Given the description of an element on the screen output the (x, y) to click on. 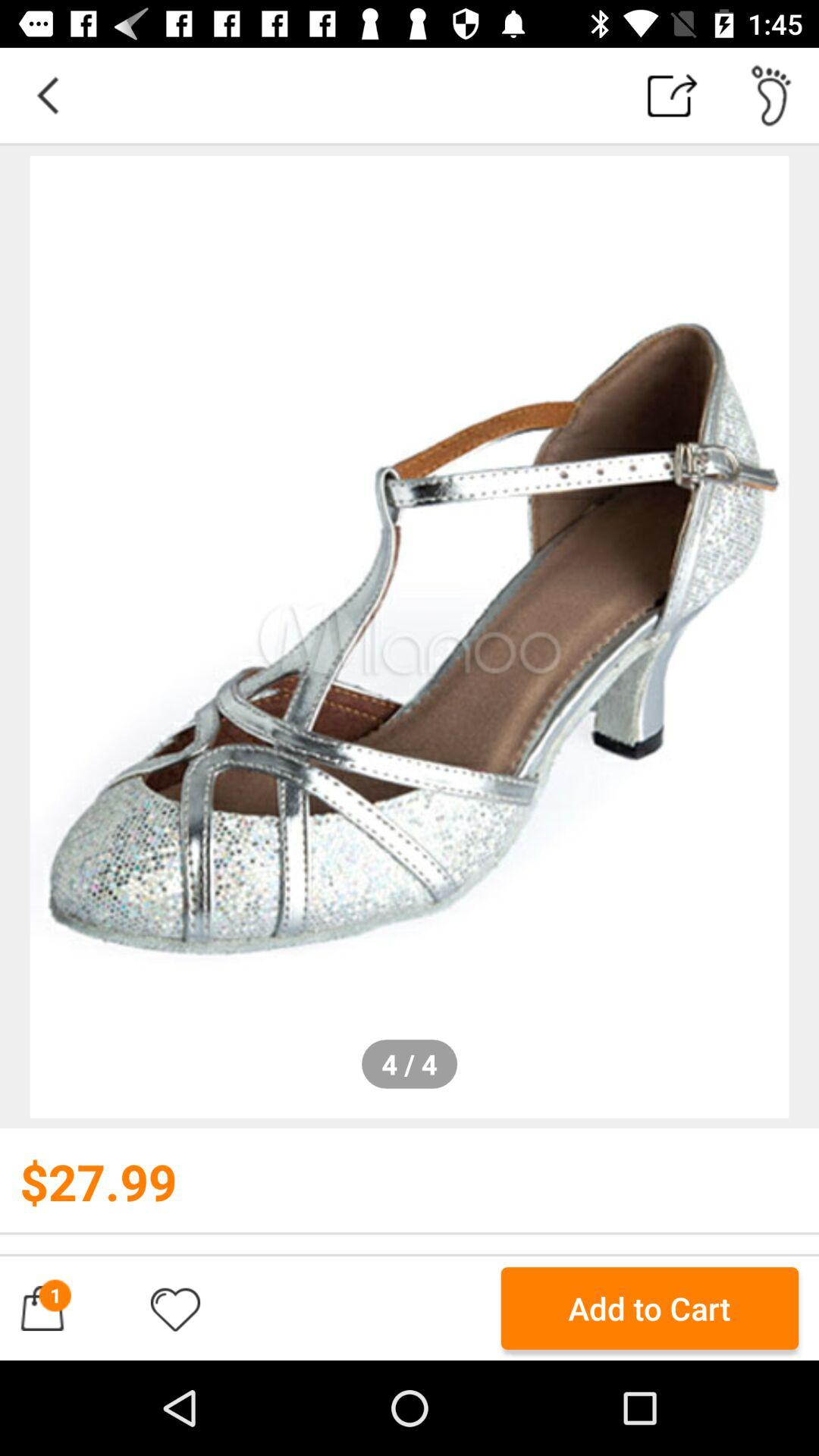
explore image (409, 636)
